Given the description of an element on the screen output the (x, y) to click on. 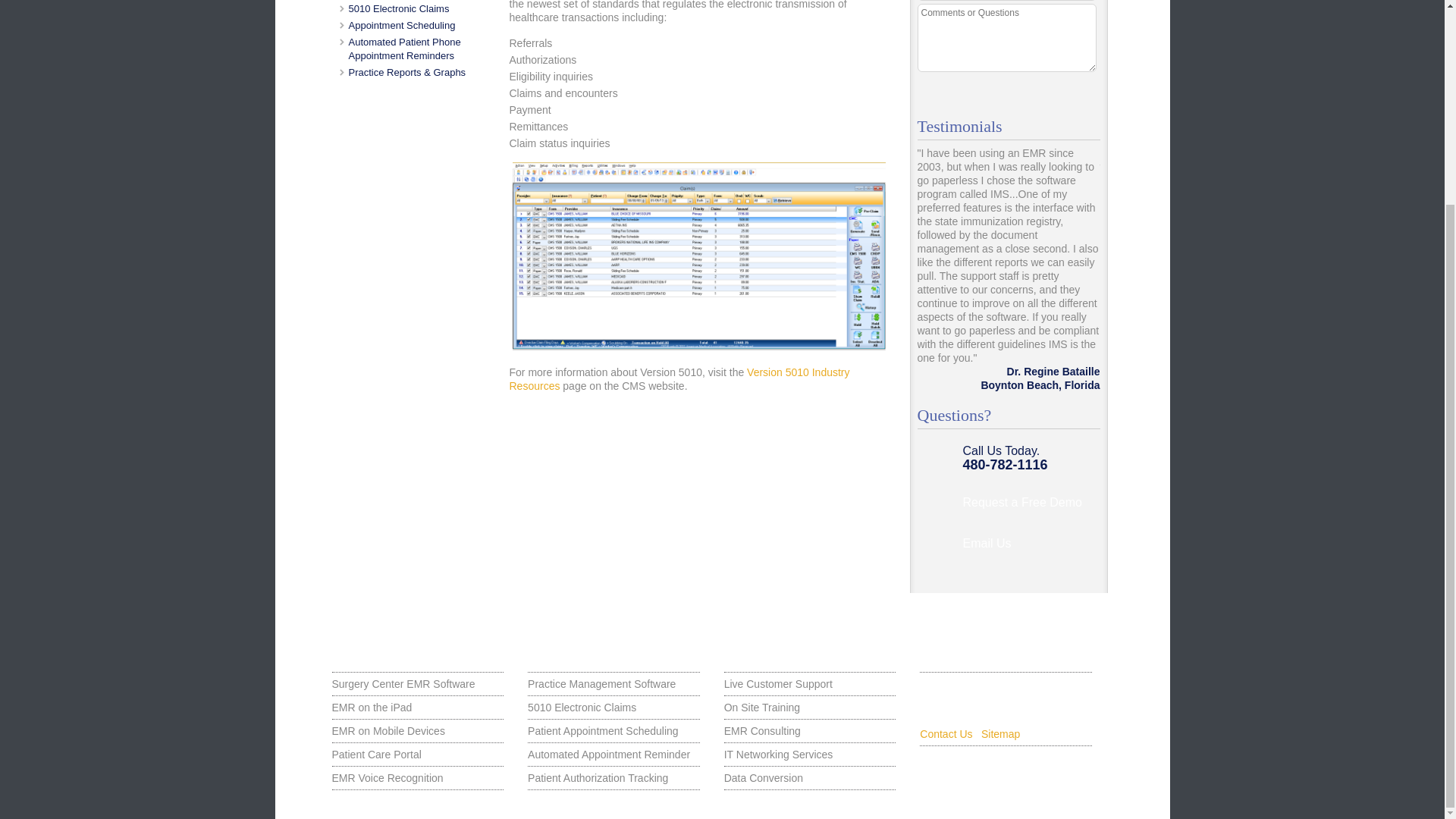
5010 Electronic Claims (399, 8)
Automated Patient Phone Appointment Reminders (405, 48)
EMR Consulting (809, 730)
Automated Appointment Reminder (613, 754)
Email Us (1025, 549)
On Site Training (809, 707)
EMR Voice Recognition (417, 777)
send (1068, 90)
EMR on the iPad (417, 707)
IT Networking Services (809, 754)
send (1068, 90)
Patient Authorization Tracking (613, 777)
Patient Care Portal (417, 754)
Live Customer Support (809, 684)
Appointment Scheduling (402, 25)
